Given the description of an element on the screen output the (x, y) to click on. 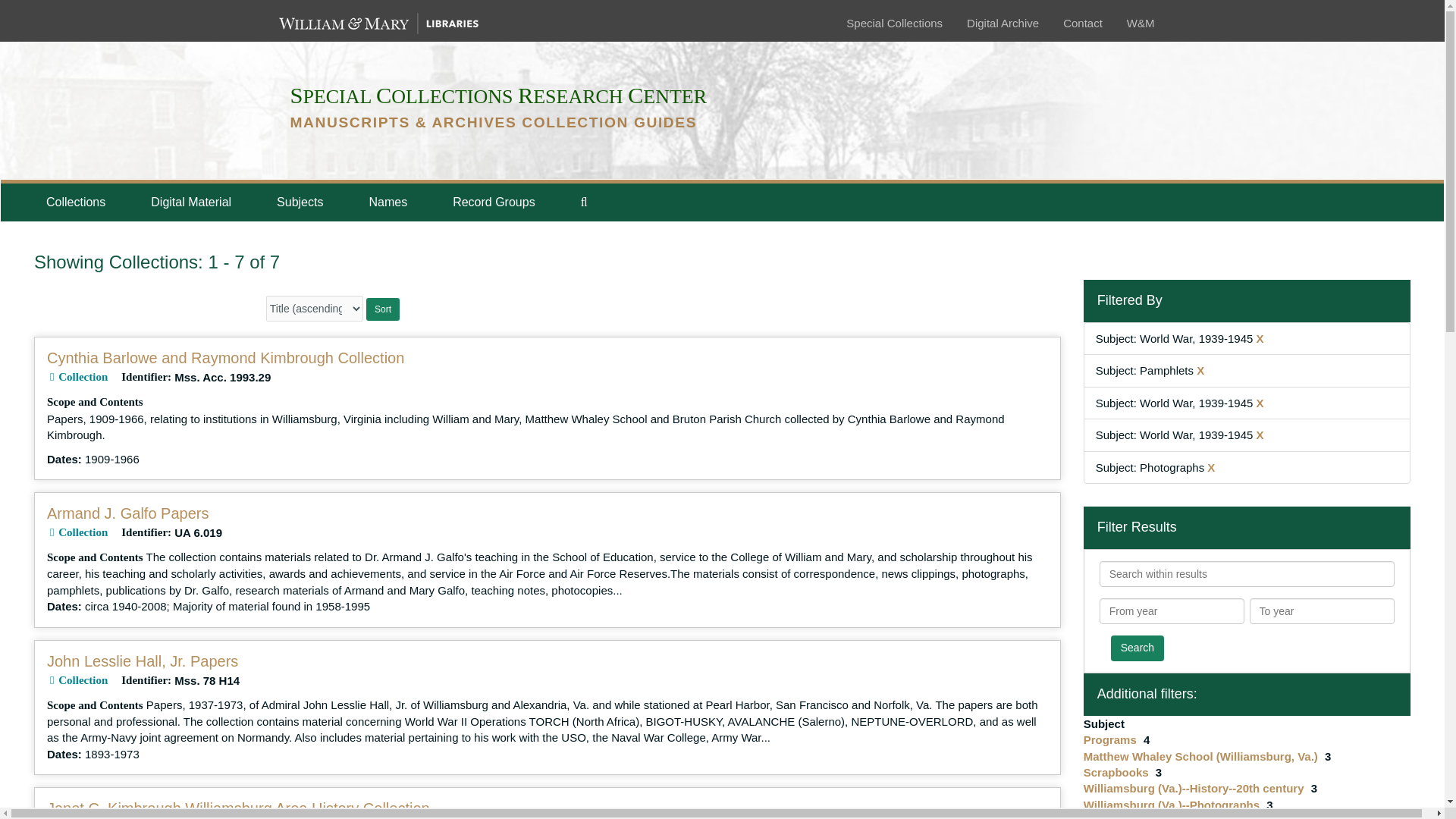
Search The Archives (583, 202)
Record Groups (493, 202)
Special Collections (893, 23)
Armand J. Galfo Papers (127, 513)
Digital Material (190, 202)
Collections (75, 202)
Filter By 'Scrapbooks' (1117, 771)
Cynthia Barlowe and Raymond Kimbrough Collection (225, 357)
Subjects (299, 202)
Contact (1082, 23)
Search (1136, 647)
Filter By 'Programs' (1111, 739)
SPECIAL COLLECTIONS RESEARCH CENTER (497, 96)
Names (387, 202)
Janet C. Kimbrough Williamsburg Area History Collection (237, 808)
